Given the description of an element on the screen output the (x, y) to click on. 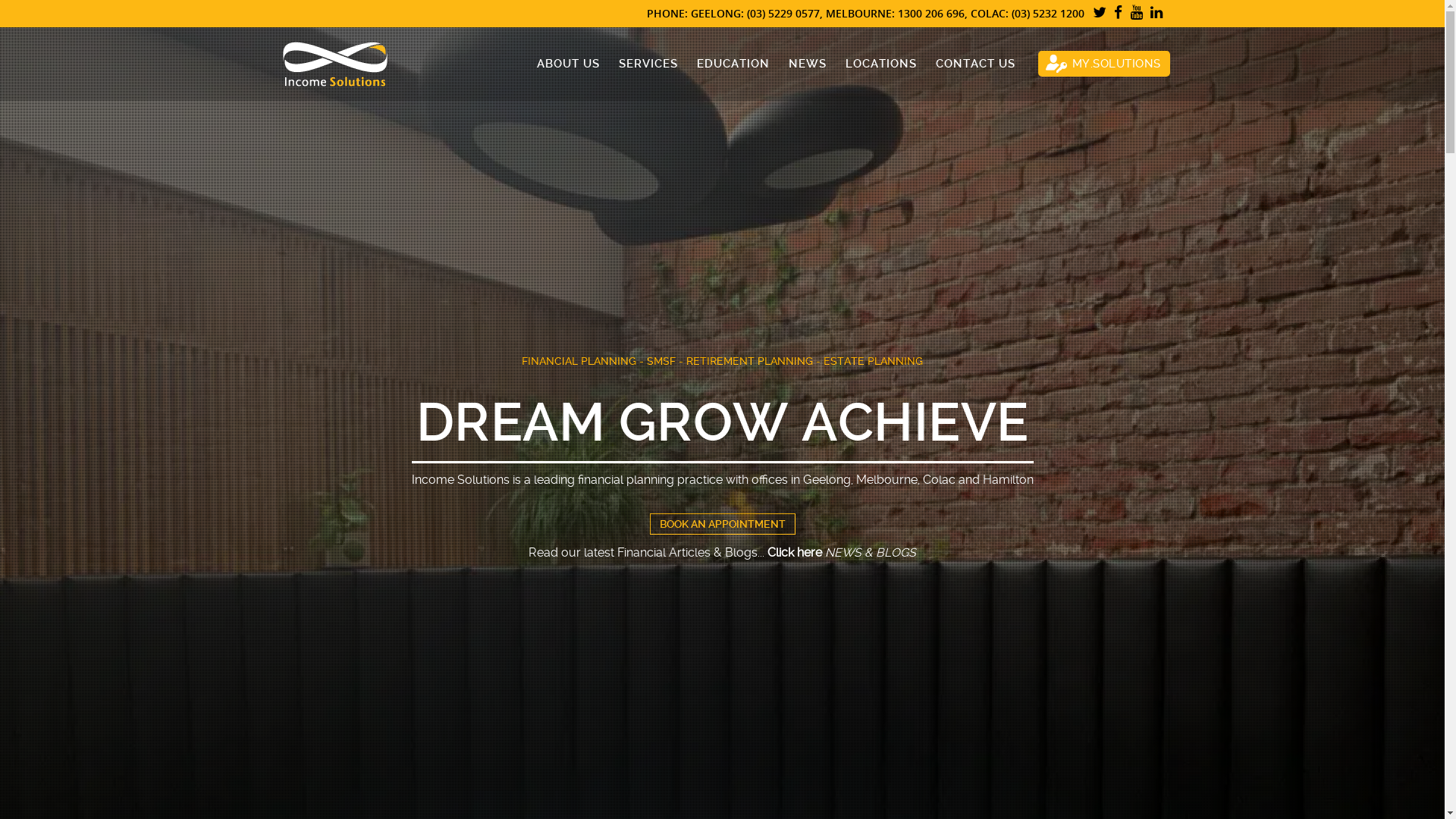
ESTATE PLANNING Element type: text (872, 360)
YouTube Element type: hover (1135, 13)
SERVICES Element type: text (638, 63)
Income Solutions Element type: hover (334, 62)
NEWS & BLOGS Element type: text (870, 551)
SMSF Element type: text (660, 360)
Twitter Element type: hover (1099, 13)
ABOUT US Element type: text (558, 63)
BOOK AN APPOINTMENT Element type: text (721, 522)
LinkedIn Element type: hover (1156, 13)
FINANCIAL PLANNING Element type: text (578, 360)
LOCATIONS Element type: text (871, 63)
NEWS Element type: text (796, 63)
CONTACT US Element type: text (965, 63)
RETIREMENT PLANNING Element type: text (749, 360)
Facebook Element type: hover (1118, 13)
MY.SOLUTIONS Element type: text (1103, 63)
EDUCATION Element type: text (723, 63)
